Given the description of an element on the screen output the (x, y) to click on. 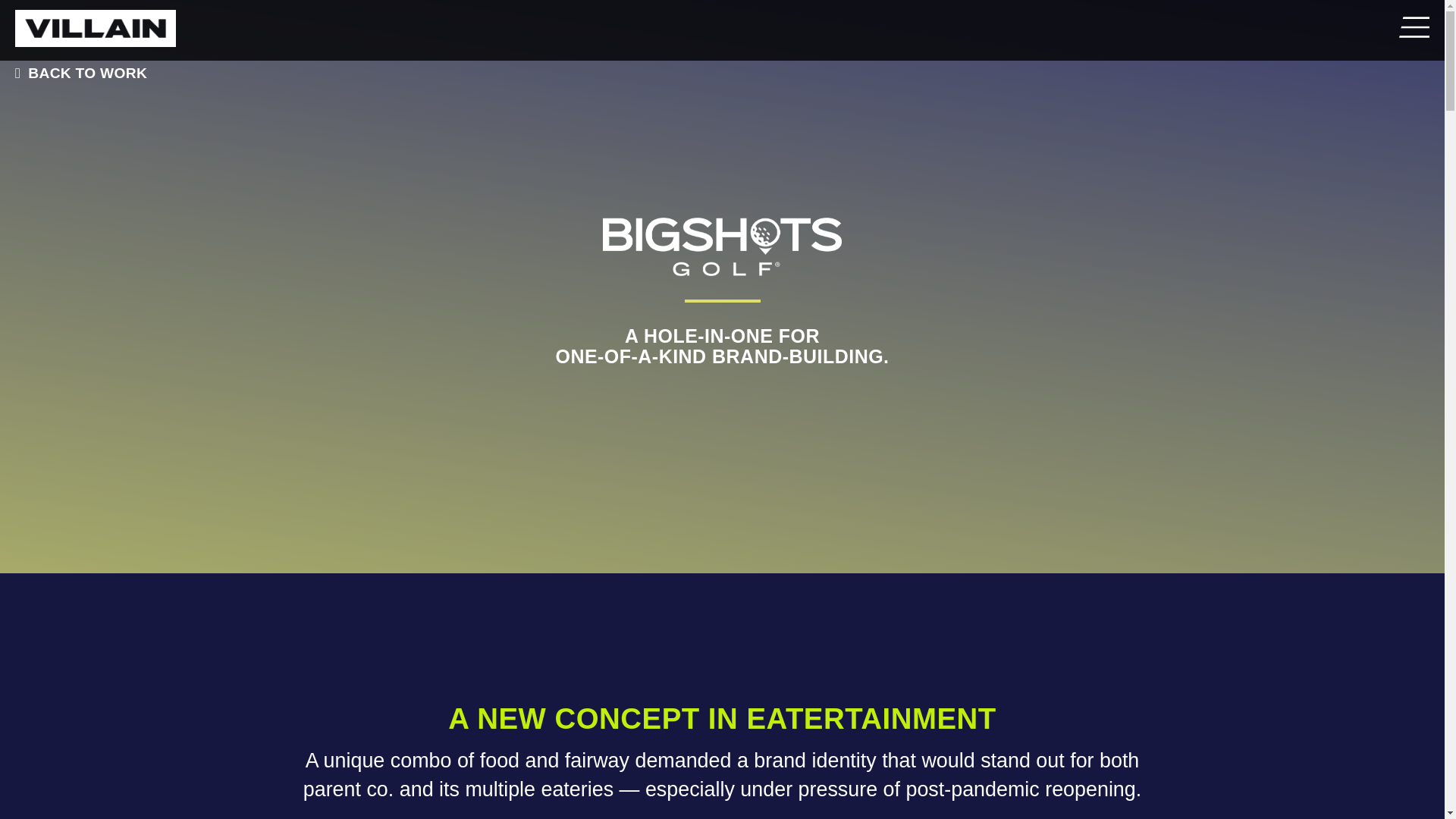
BACK TO WORK (77, 73)
